Given the description of an element on the screen output the (x, y) to click on. 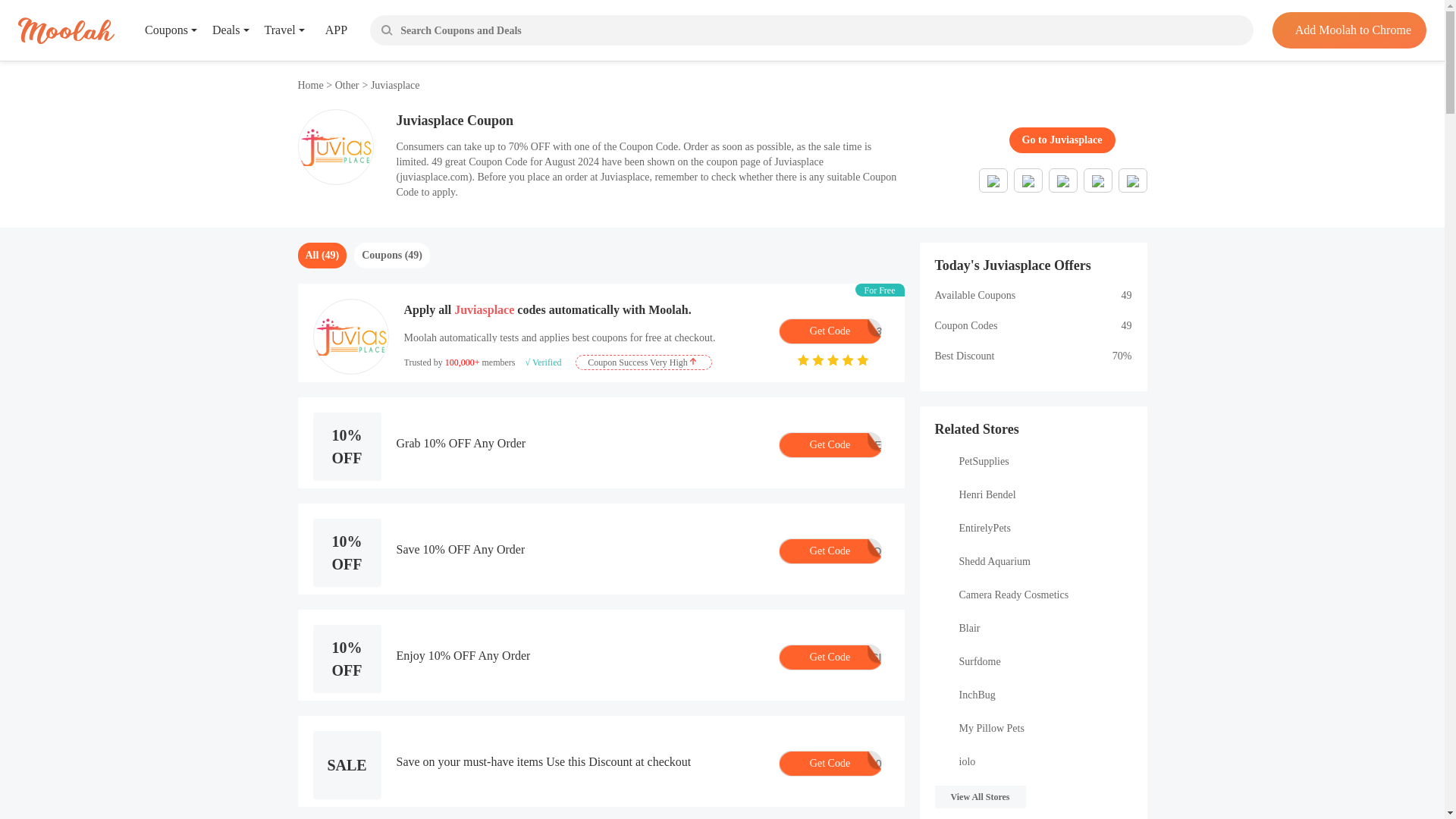
Go to Juviasplace (1061, 140)
Add Moolah to Chrome (1348, 30)
Home (311, 84)
APP (324, 30)
Other (828, 330)
